Given the description of an element on the screen output the (x, y) to click on. 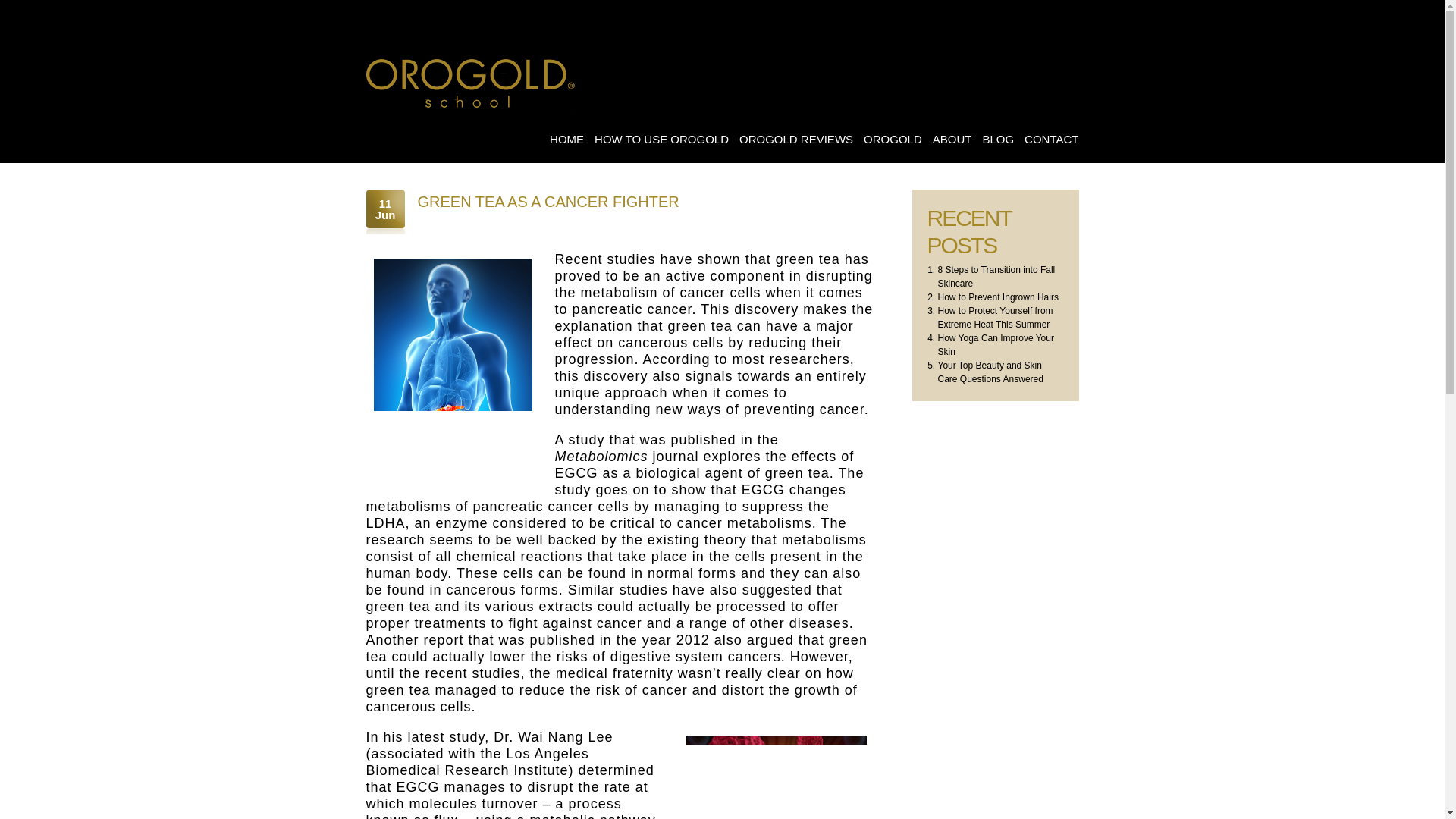
CONTACT (1051, 139)
All about OROGOLD Reviews (470, 82)
OROGOLD REVIEWS (796, 139)
BLOG (997, 139)
Your Top Beauty and Skin Care Questions Answered (989, 372)
HOME (566, 139)
8 Steps to Transition into Fall Skincare (995, 276)
How to Prevent Ingrown Hairs (997, 296)
How Yoga Can Improve Your Skin (994, 344)
How to Protect Yourself from Extreme Heat This Summer (994, 317)
